Given the description of an element on the screen output the (x, y) to click on. 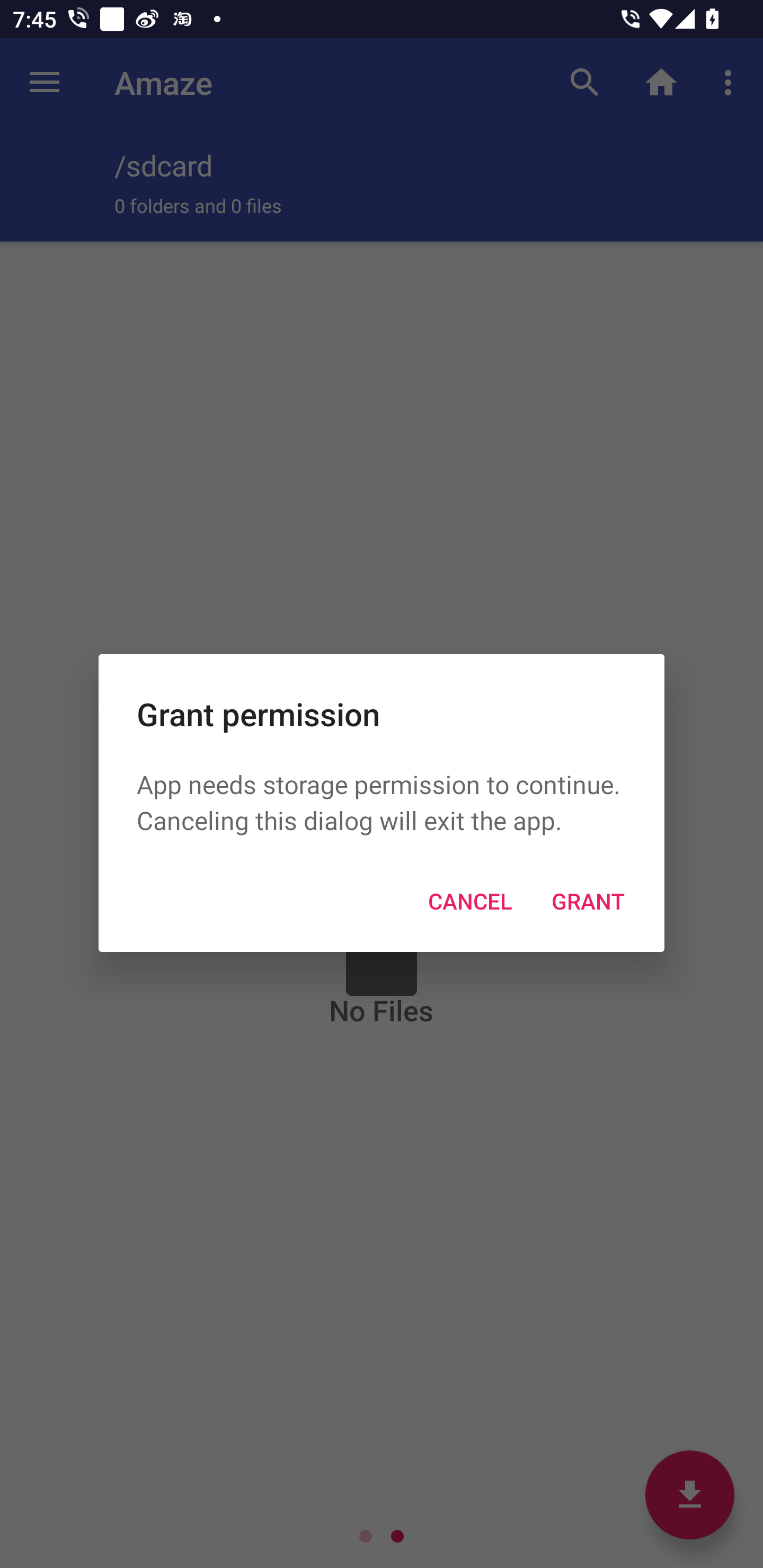
CANCEL (469, 900)
GRANT (588, 900)
